Given the description of an element on the screen output the (x, y) to click on. 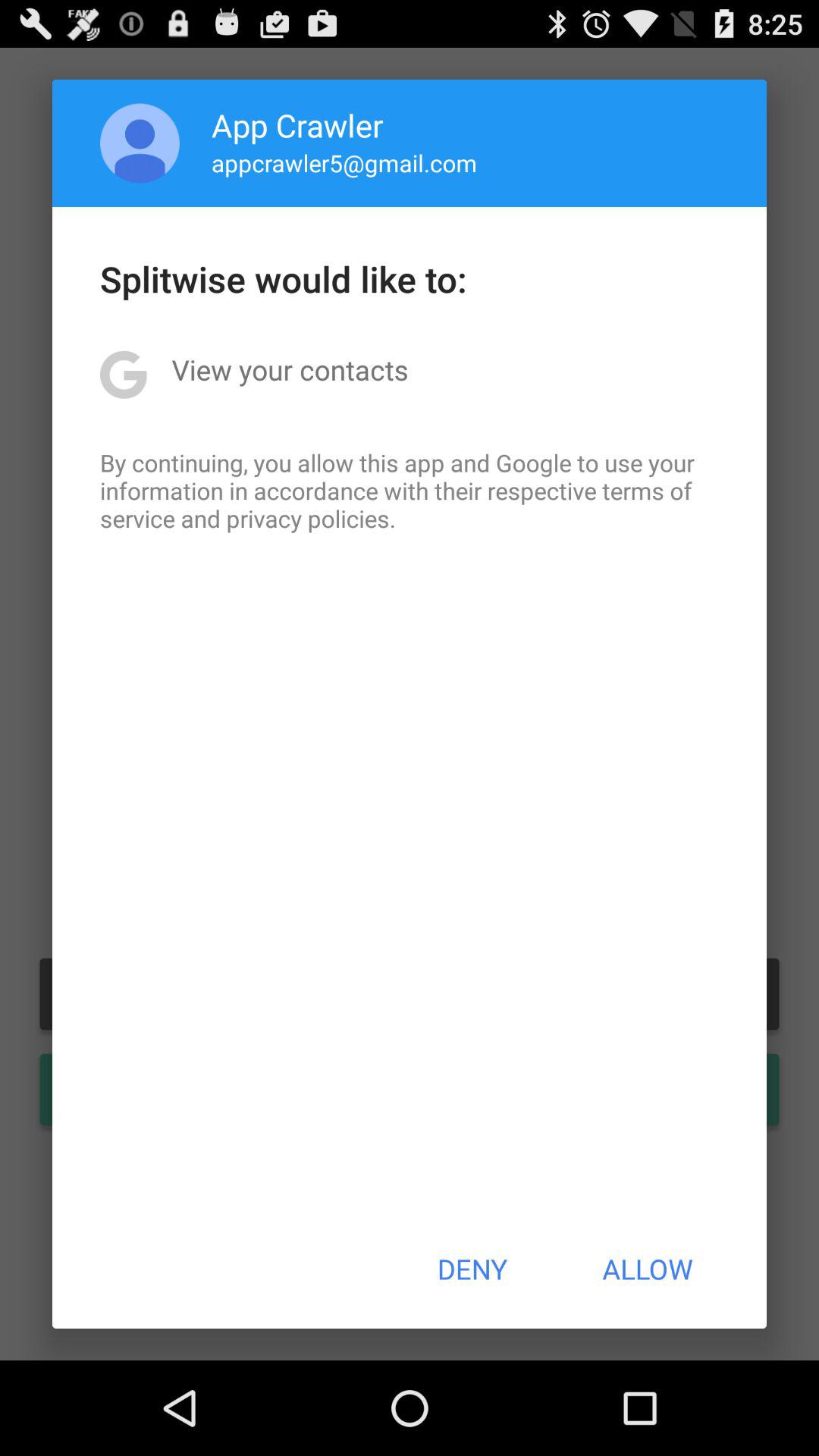
turn off app below the splitwise would like app (289, 369)
